Given the description of an element on the screen output the (x, y) to click on. 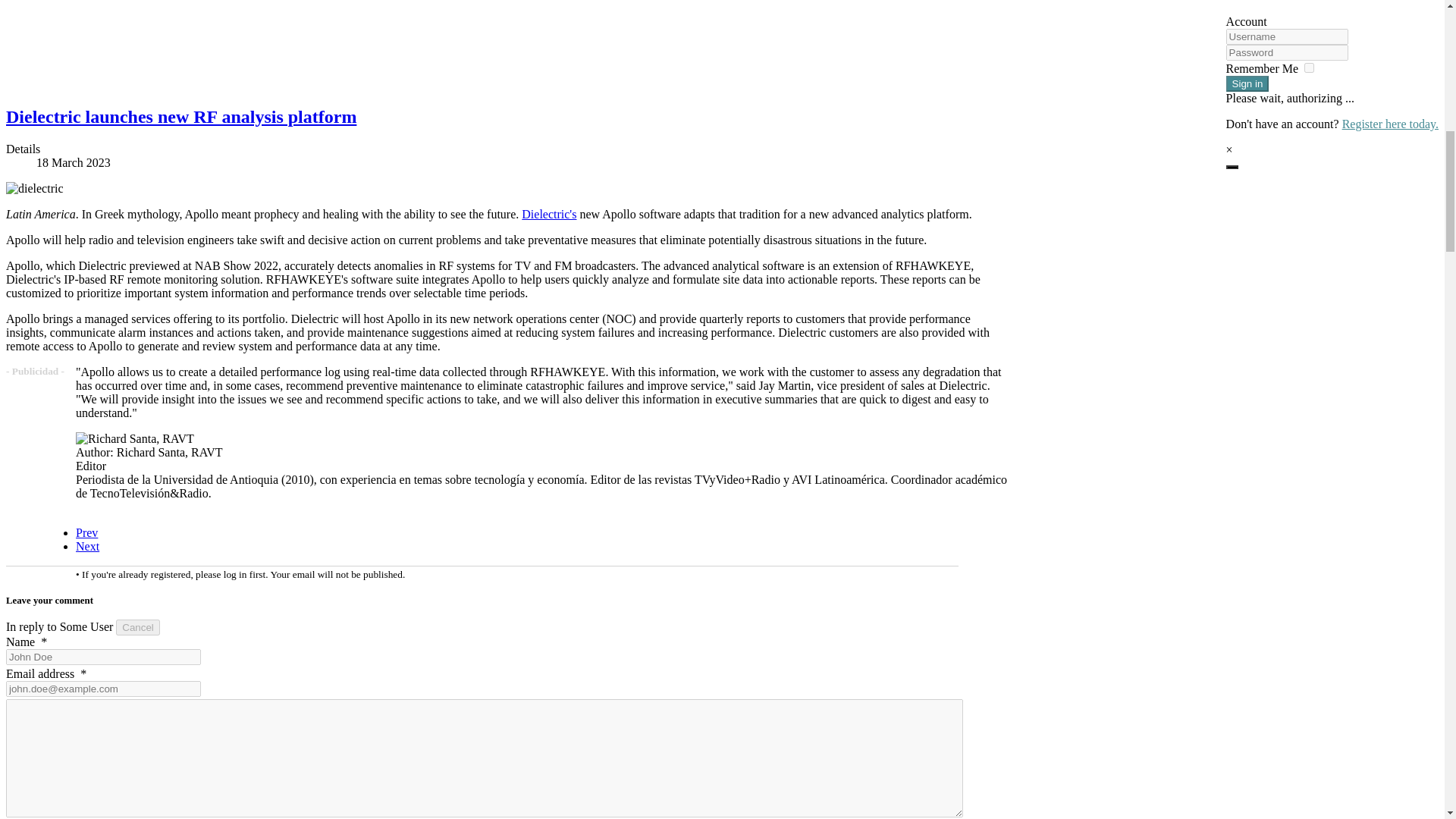
Published:  (522, 162)
IFT will accredit broadcasting experts (87, 545)
yes (1309, 67)
Sign in (1247, 83)
Dielectric launches new RF analysis platform (180, 116)
Account (1232, 166)
